Given the description of an element on the screen output the (x, y) to click on. 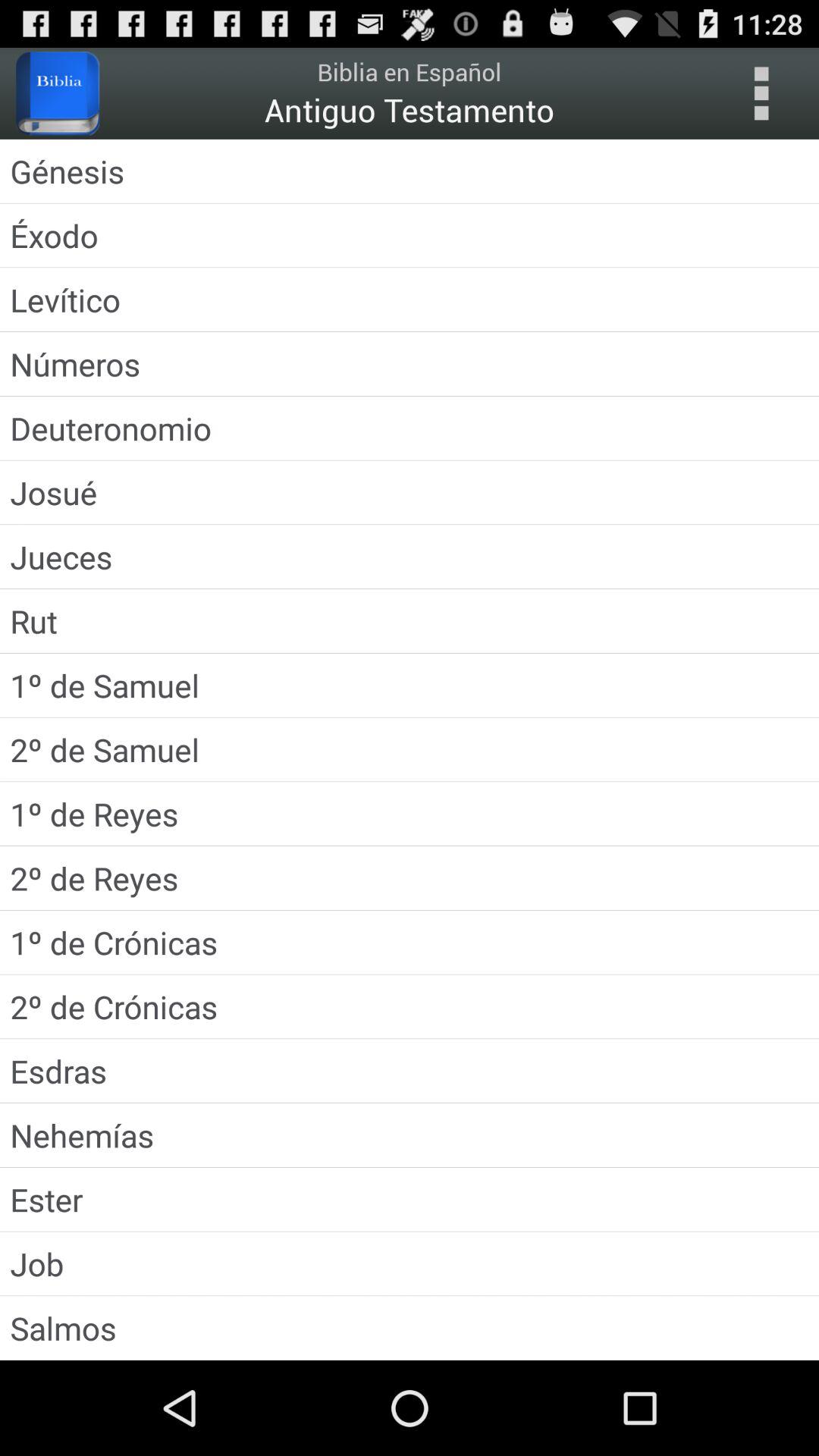
tap item below esdras icon (409, 1134)
